Given the description of an element on the screen output the (x, y) to click on. 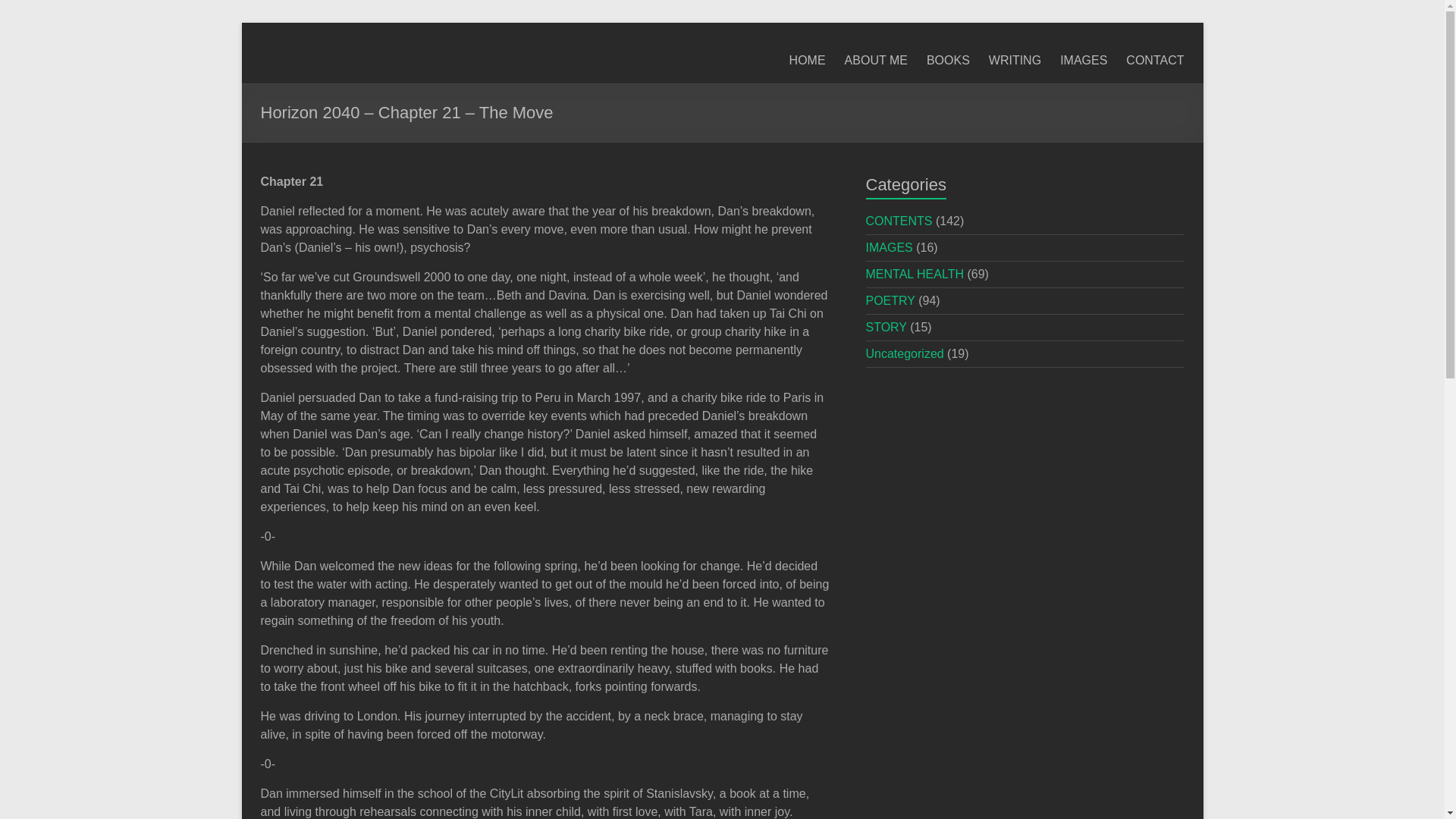
WRITING (1014, 60)
BOOKS (947, 60)
ABOUT ME (875, 60)
Making Connections Matter (334, 82)
STORY (886, 327)
Making Connections Matter (334, 82)
IMAGES (1082, 60)
MENTAL HEALTH (914, 273)
Uncategorized (904, 353)
